Given the description of an element on the screen output the (x, y) to click on. 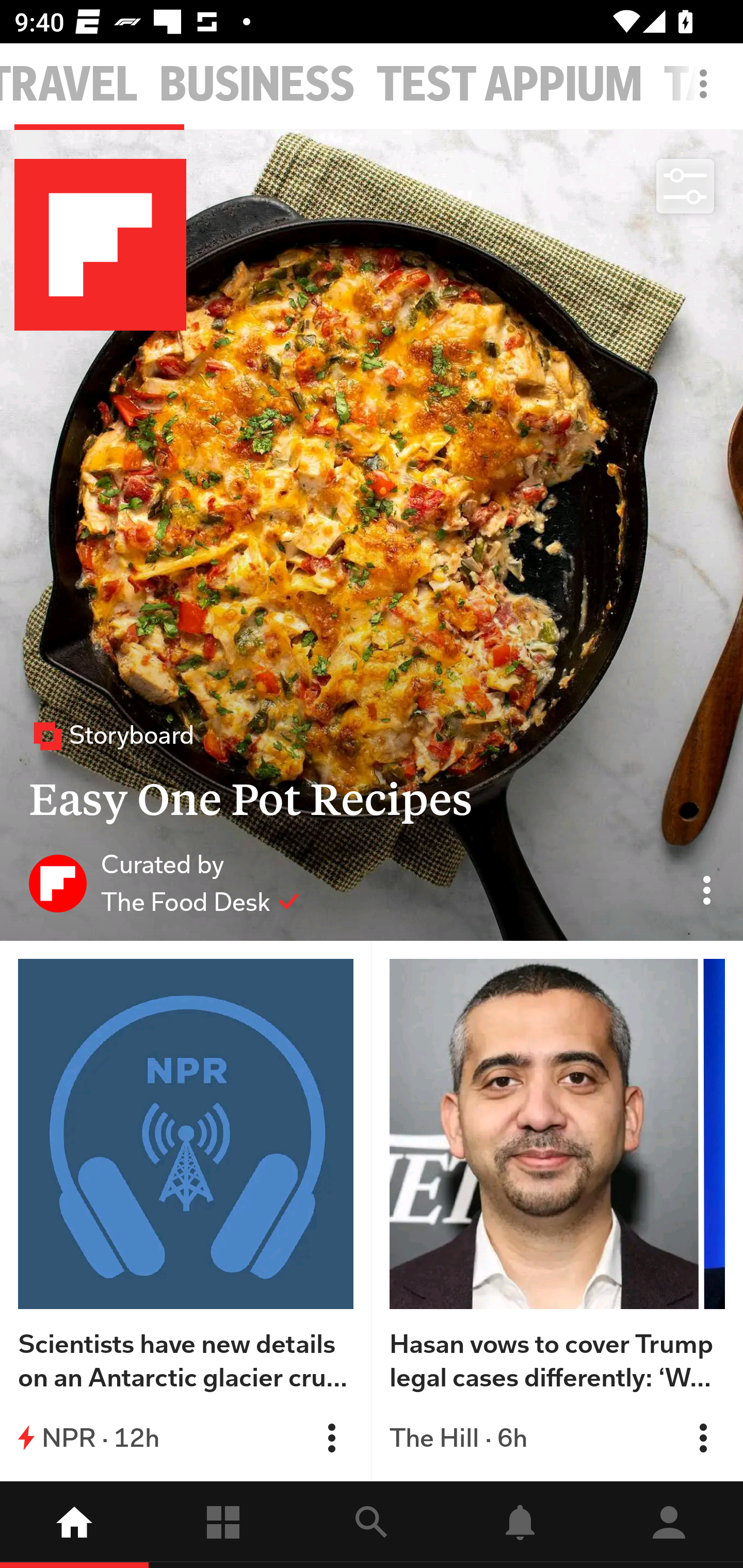
TRAVEL (68, 84)
BUSINESS (257, 84)
TEST APPIUM (509, 84)
More options (706, 93)
Curated by The Food Desk (163, 882)
NPR · 12h Flip into Magazine (185, 1437)
The Hill · 6h Flip into Magazine (557, 1437)
Flip into Magazine (331, 1437)
Flip into Magazine (703, 1437)
home (74, 1524)
Following (222, 1524)
explore (371, 1524)
Notifications (519, 1524)
Profile (668, 1524)
